Given the description of an element on the screen output the (x, y) to click on. 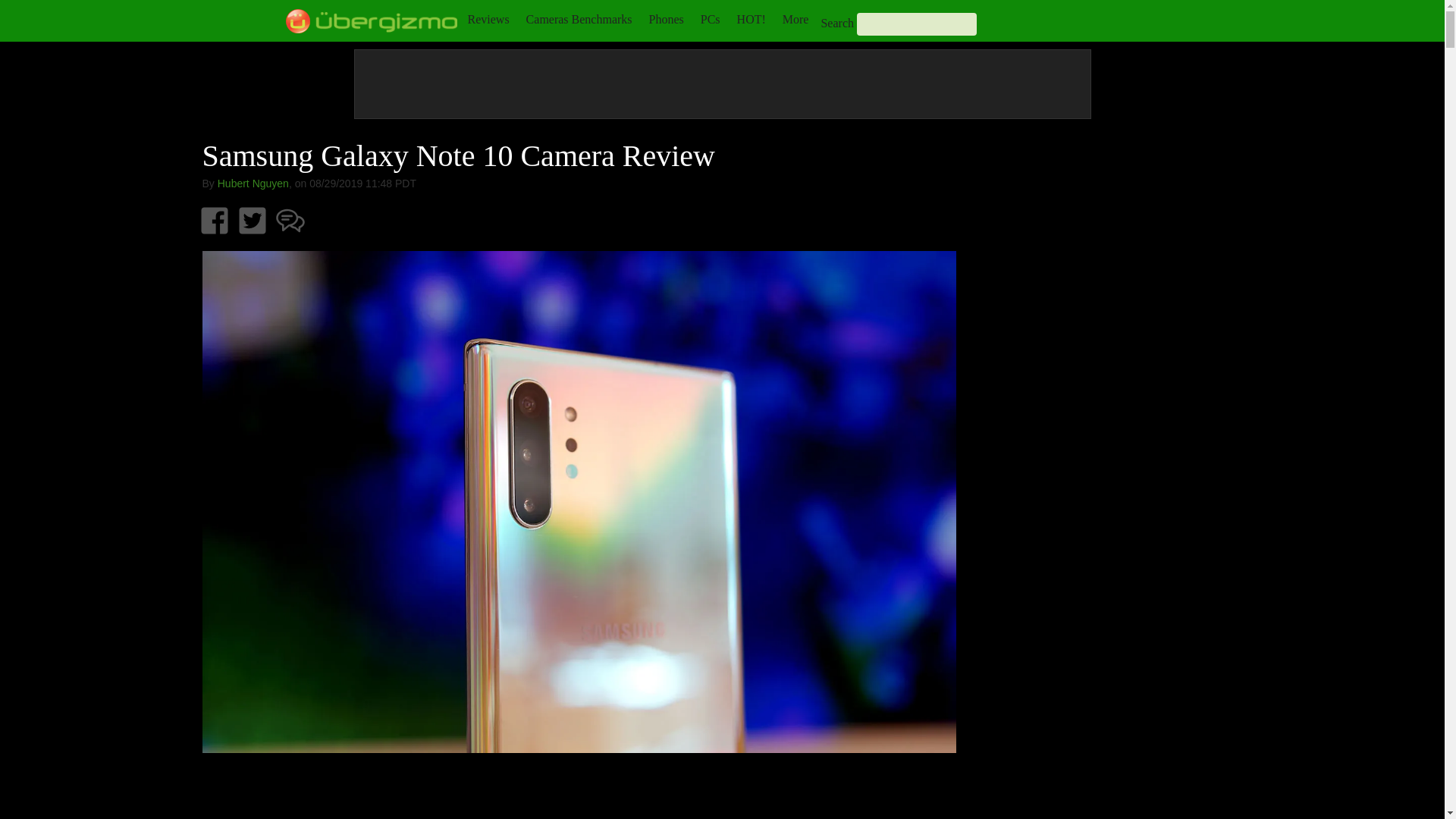
PCs (710, 19)
Reviews (487, 19)
Phones (666, 19)
Cameras Benchmarks (578, 19)
